Given the description of an element on the screen output the (x, y) to click on. 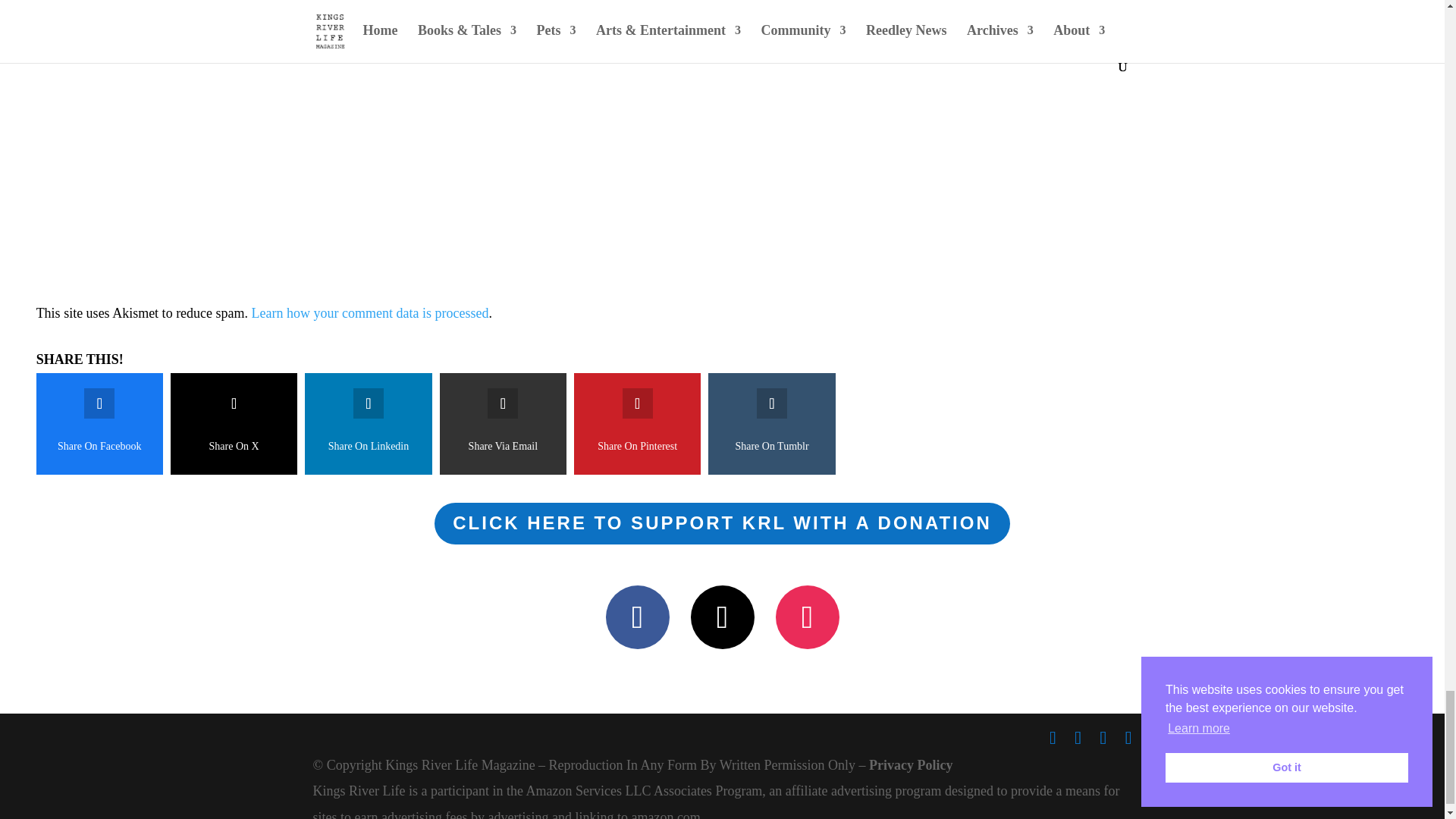
Follow on X (722, 617)
Follow on Instagram (806, 617)
Follow on Facebook (636, 617)
